Given the description of an element on the screen output the (x, y) to click on. 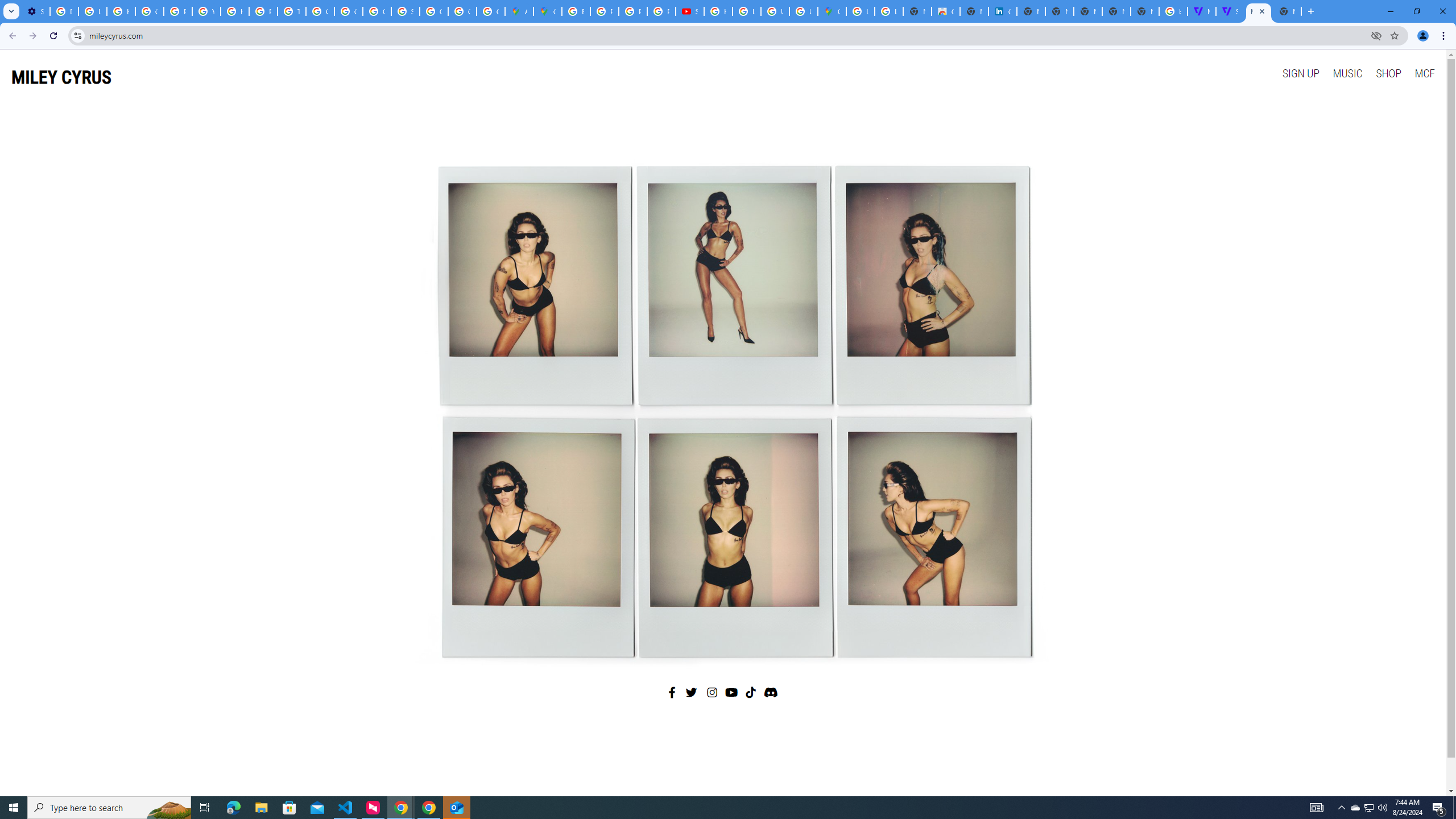
SIGN UP (1300, 73)
https://scholar.google.com/ (234, 11)
Sign in - Google Accounts (405, 11)
Cookie Policy | LinkedIn (1002, 11)
Subscriptions - YouTube (690, 11)
Privacy Help Center - Policies Help (178, 11)
